Given the description of an element on the screen output the (x, y) to click on. 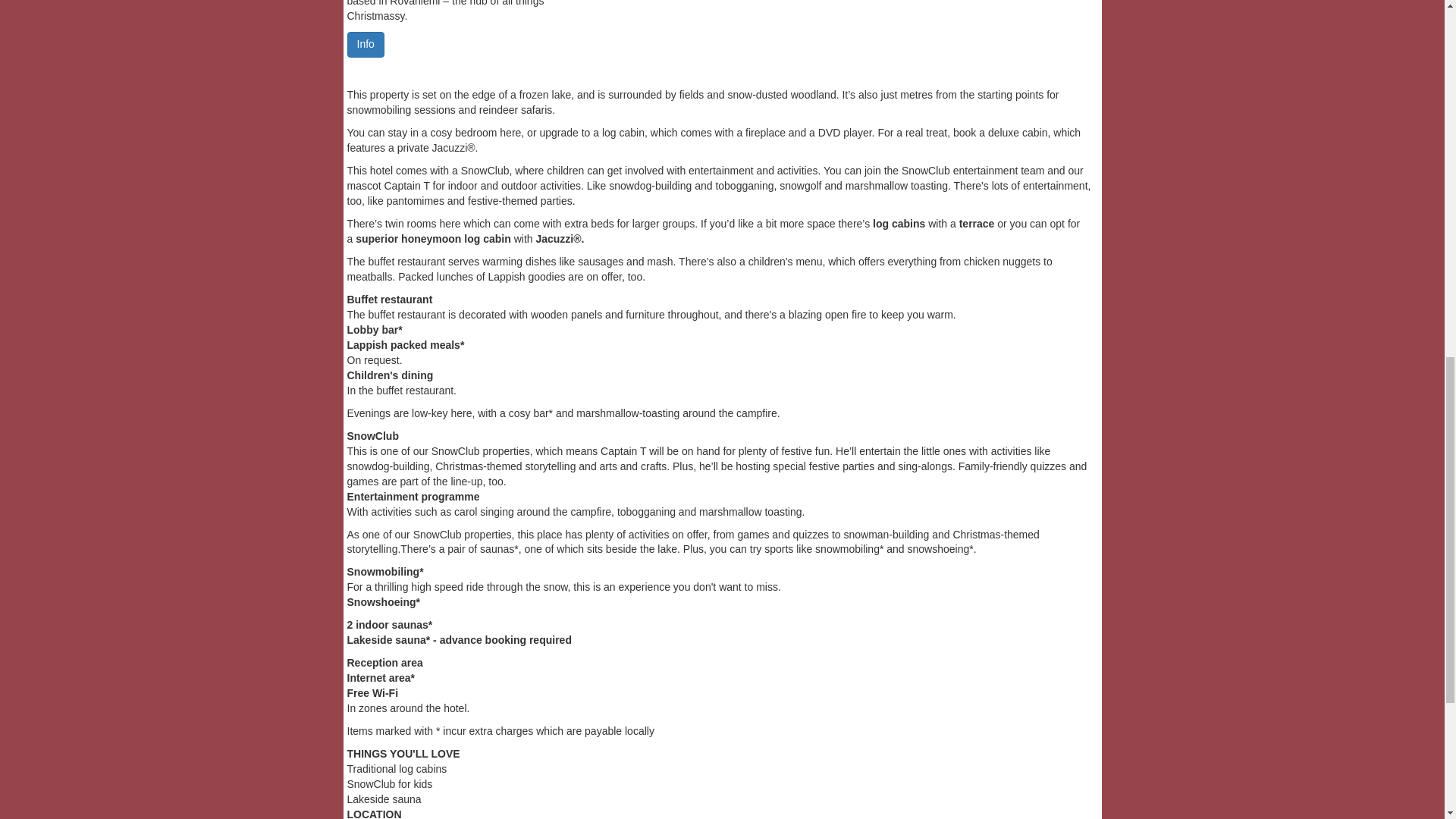
Info (365, 43)
Info (365, 44)
